Given the description of an element on the screen output the (x, y) to click on. 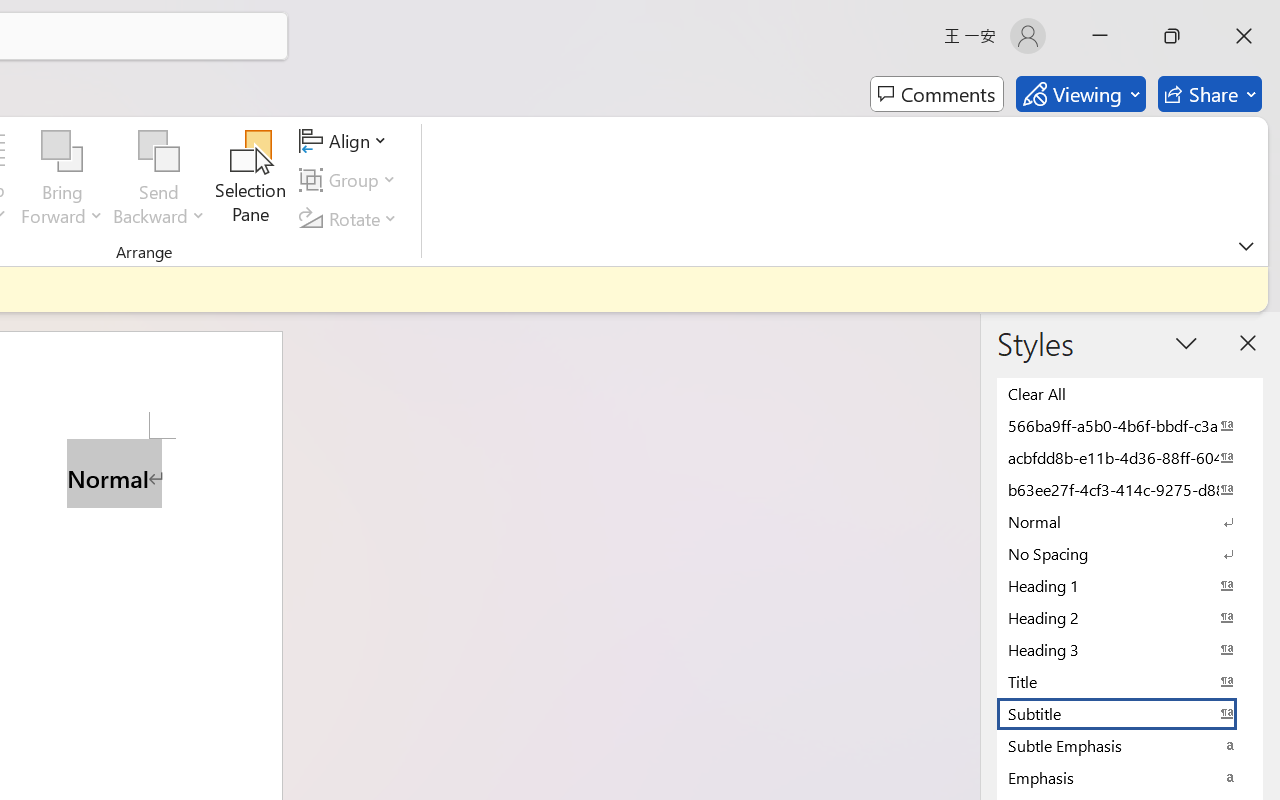
Selection Pane... (251, 179)
Emphasis (1130, 777)
Normal (1130, 521)
Heading 1 (1130, 585)
Ribbon Display Options (1246, 245)
Bring Forward (62, 179)
Heading 3 (1130, 649)
Rotate (351, 218)
Title (1130, 681)
Send Backward (159, 151)
No Spacing (1130, 553)
Subtitle (1130, 713)
566ba9ff-a5b0-4b6f-bbdf-c3ab41993fc2 (1130, 425)
